Given the description of an element on the screen output the (x, y) to click on. 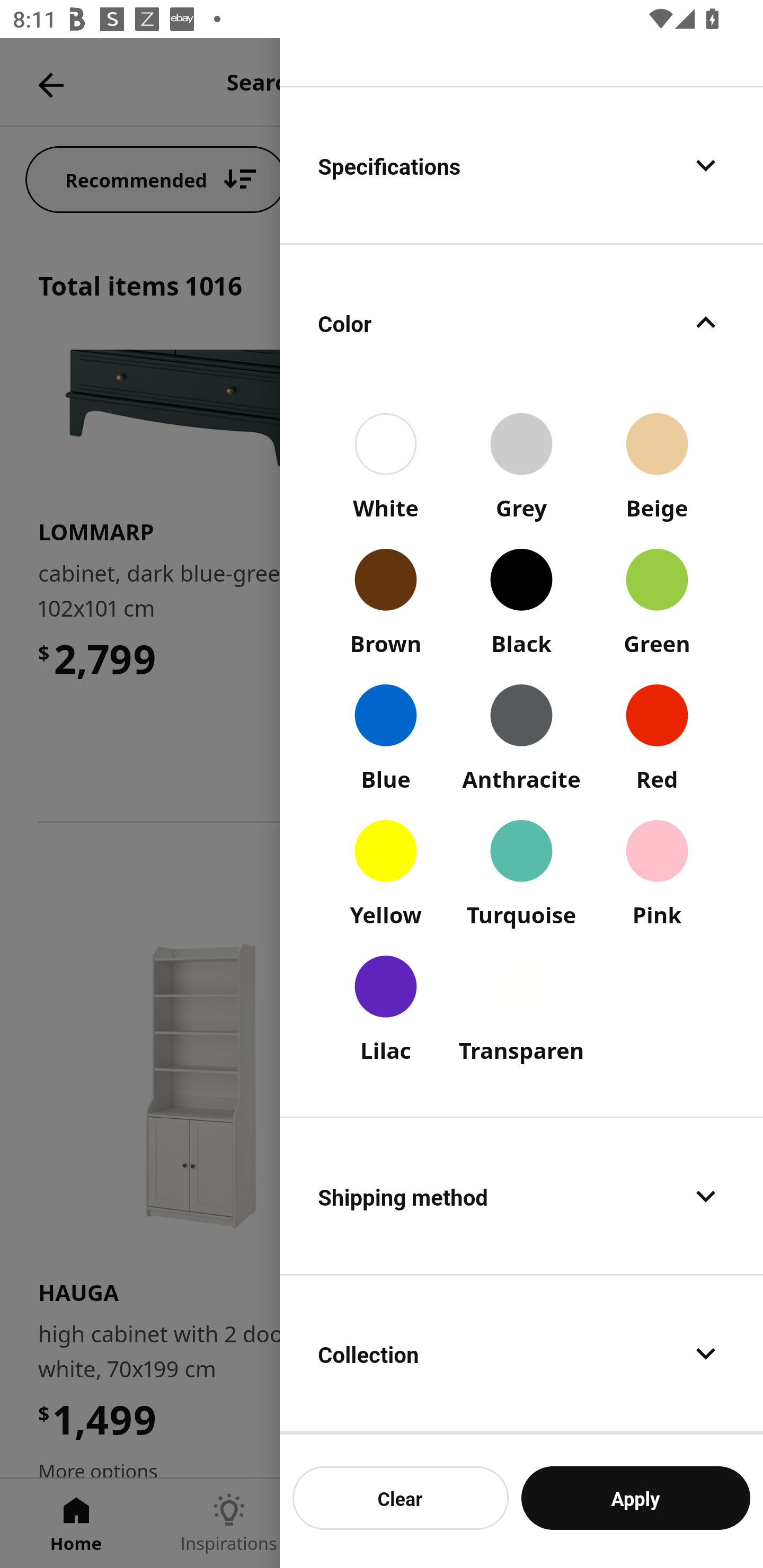
Specifications (521, 165)
Color (521, 322)
Shipping method (521, 1195)
Collection (521, 1353)
Clear (400, 1498)
Apply (635, 1498)
